Given the description of an element on the screen output the (x, y) to click on. 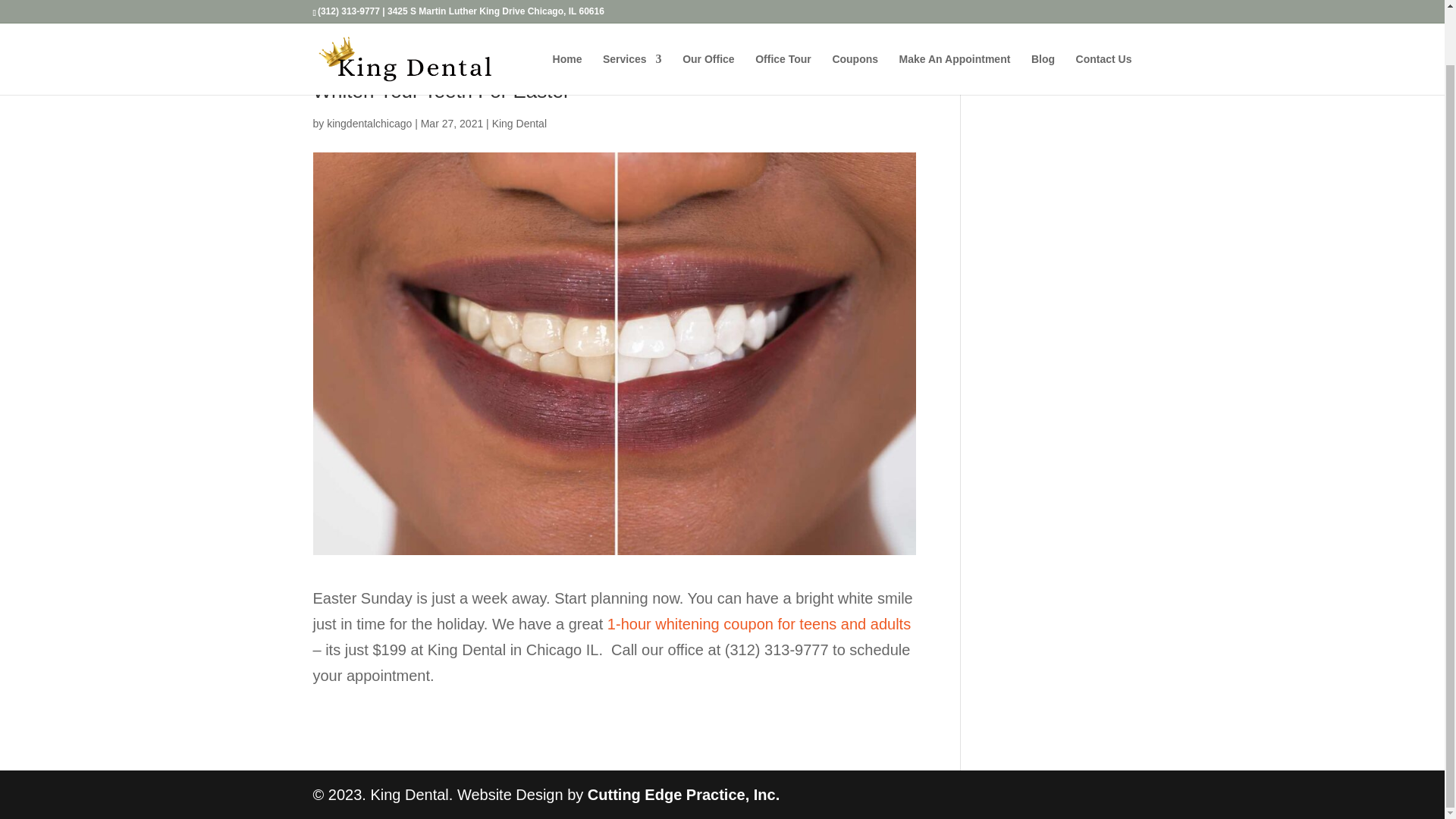
Make An Appointment (954, 18)
Our Office (707, 18)
Posts by kingdentalchicago (369, 123)
Services (632, 18)
Contact Us (1103, 18)
1-hour whitening coupon for teens and adults (759, 623)
Coupons (854, 18)
kingdentalchicago (369, 123)
King Dental (519, 123)
Cutting Edge Practice, Inc. (683, 794)
Office Tour (782, 18)
